Given the description of an element on the screen output the (x, y) to click on. 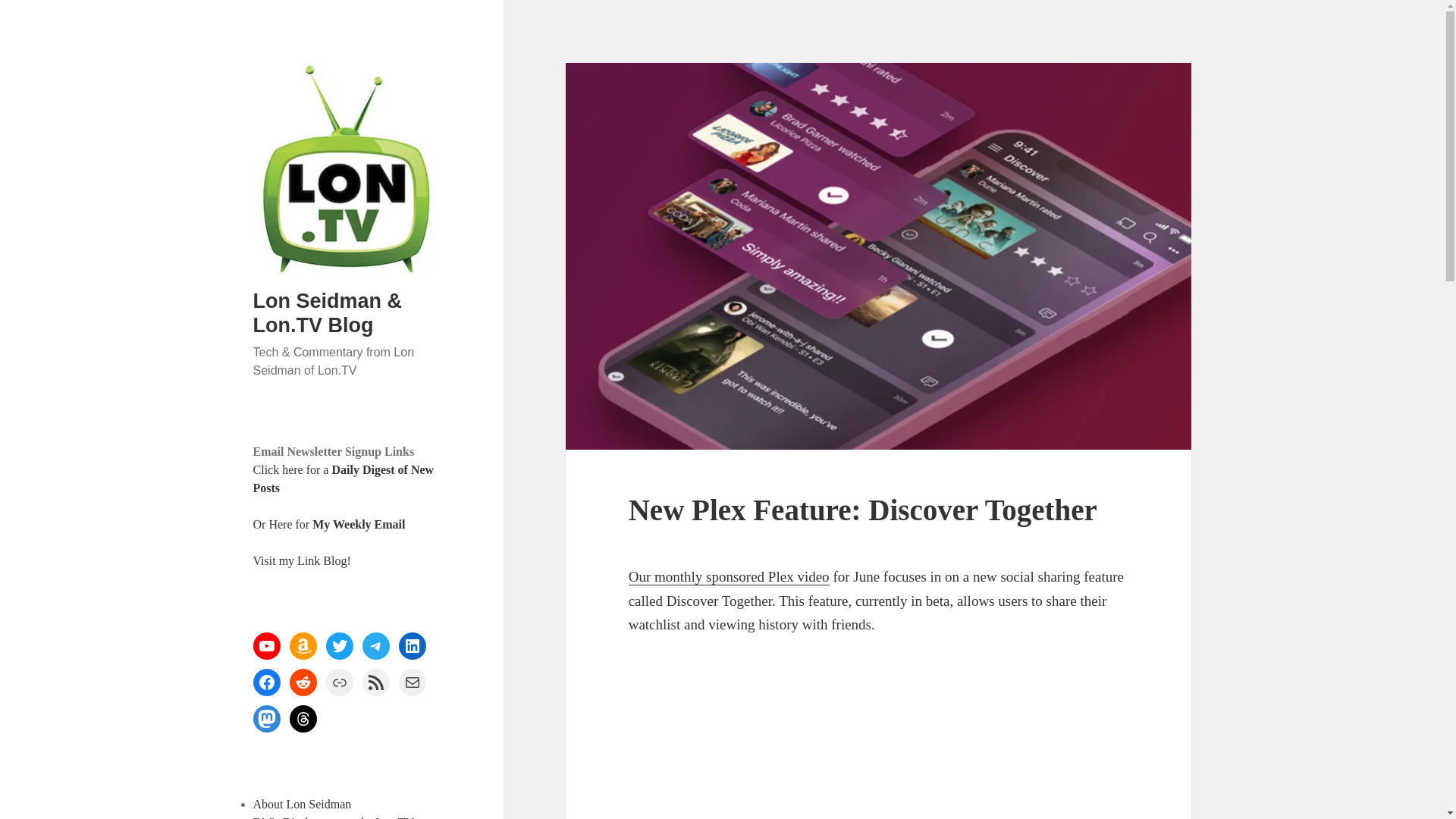
Or Here for My Weekly Email (329, 523)
About Lon Seidman (302, 803)
Threads (303, 718)
Click here for a Daily Digest of New Posts (343, 478)
FAQ: Disclosures on the Lon.TV YouTube Channel (333, 817)
Facebook (267, 682)
Amazon (303, 646)
Reddit (303, 682)
YouTube (267, 646)
LinkedIn (412, 646)
